Given the description of an element on the screen output the (x, y) to click on. 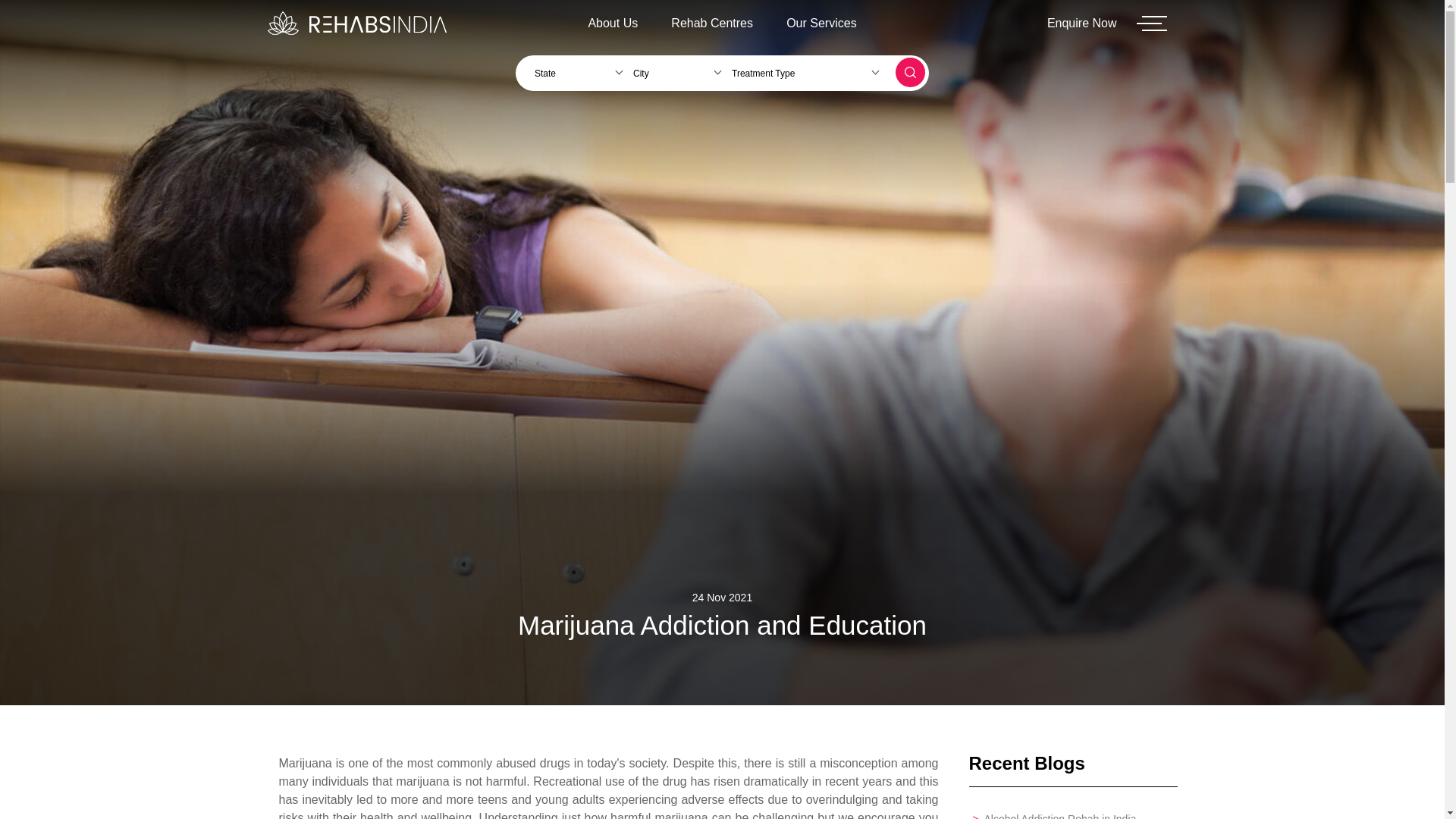
Rehab Centres (712, 22)
Our Services (820, 22)
About Us (612, 22)
